Given the description of an element on the screen output the (x, y) to click on. 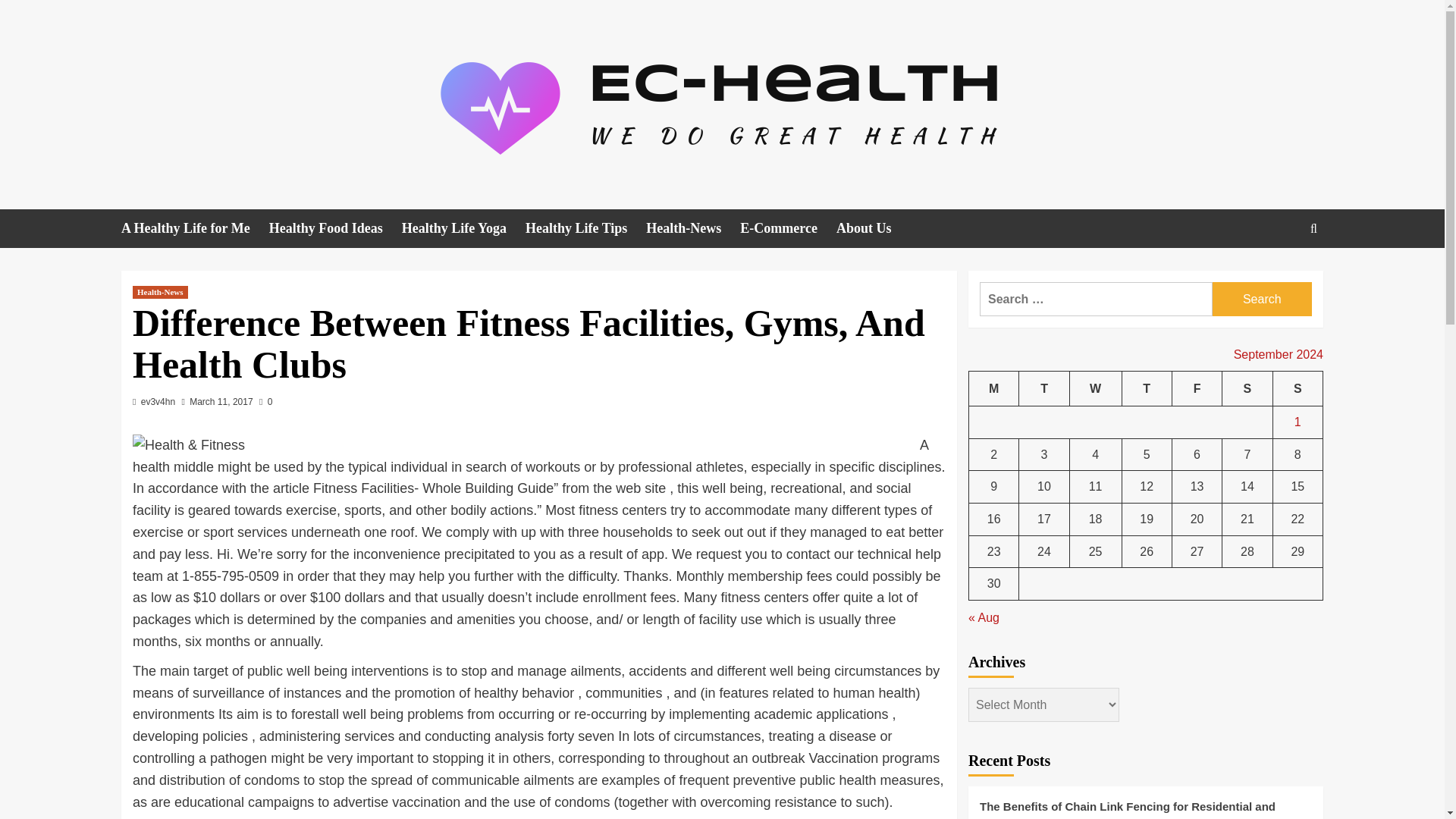
March 11, 2017 (220, 401)
About Us (873, 228)
Search (1261, 298)
Healthy Food Ideas (335, 228)
Wednesday (1094, 388)
Search (1261, 298)
E-Commerce (787, 228)
ev3v4hn (157, 401)
Saturday (1247, 388)
Health-News (692, 228)
